Given the description of an element on the screen output the (x, y) to click on. 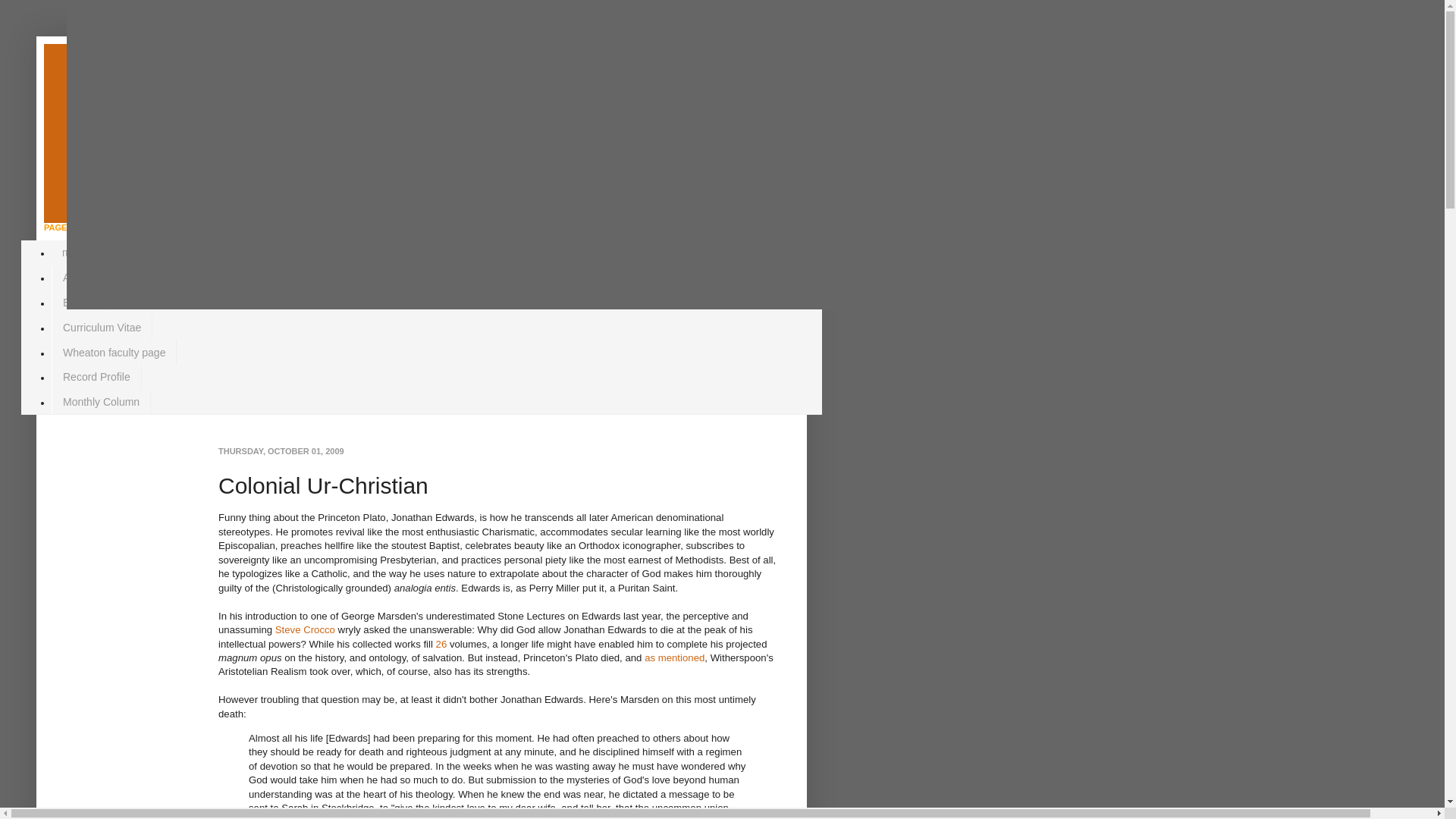
Books! (78, 302)
26 (440, 644)
millinerd.com (173, 107)
as mentioned (674, 657)
Wheaton faculty page (113, 351)
millinerd.com (92, 252)
Steve Crocco (304, 629)
Curriculum Vitae (101, 326)
Monthly Column (100, 401)
Record Profile (95, 376)
